Given the description of an element on the screen output the (x, y) to click on. 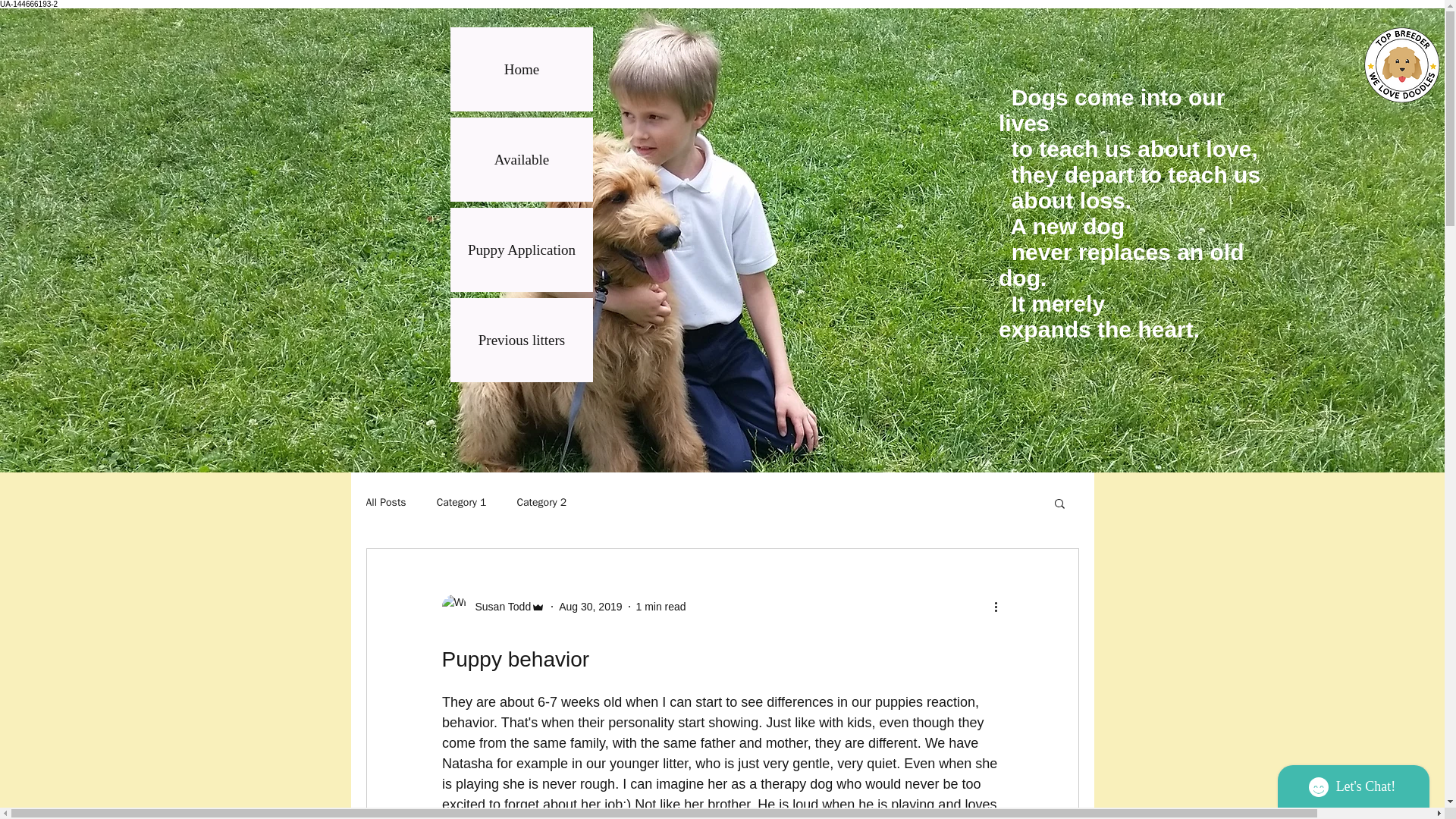
Home (520, 69)
Previous litters (520, 340)
Available (520, 159)
Wix Chat (1356, 782)
Puppy Application (520, 249)
Susan Todd (492, 606)
Category 1 (461, 502)
All Posts (385, 502)
1 min read (659, 606)
Susan Todd (498, 606)
Category 2 (541, 502)
Aug 30, 2019 (590, 606)
